Given the description of an element on the screen output the (x, y) to click on. 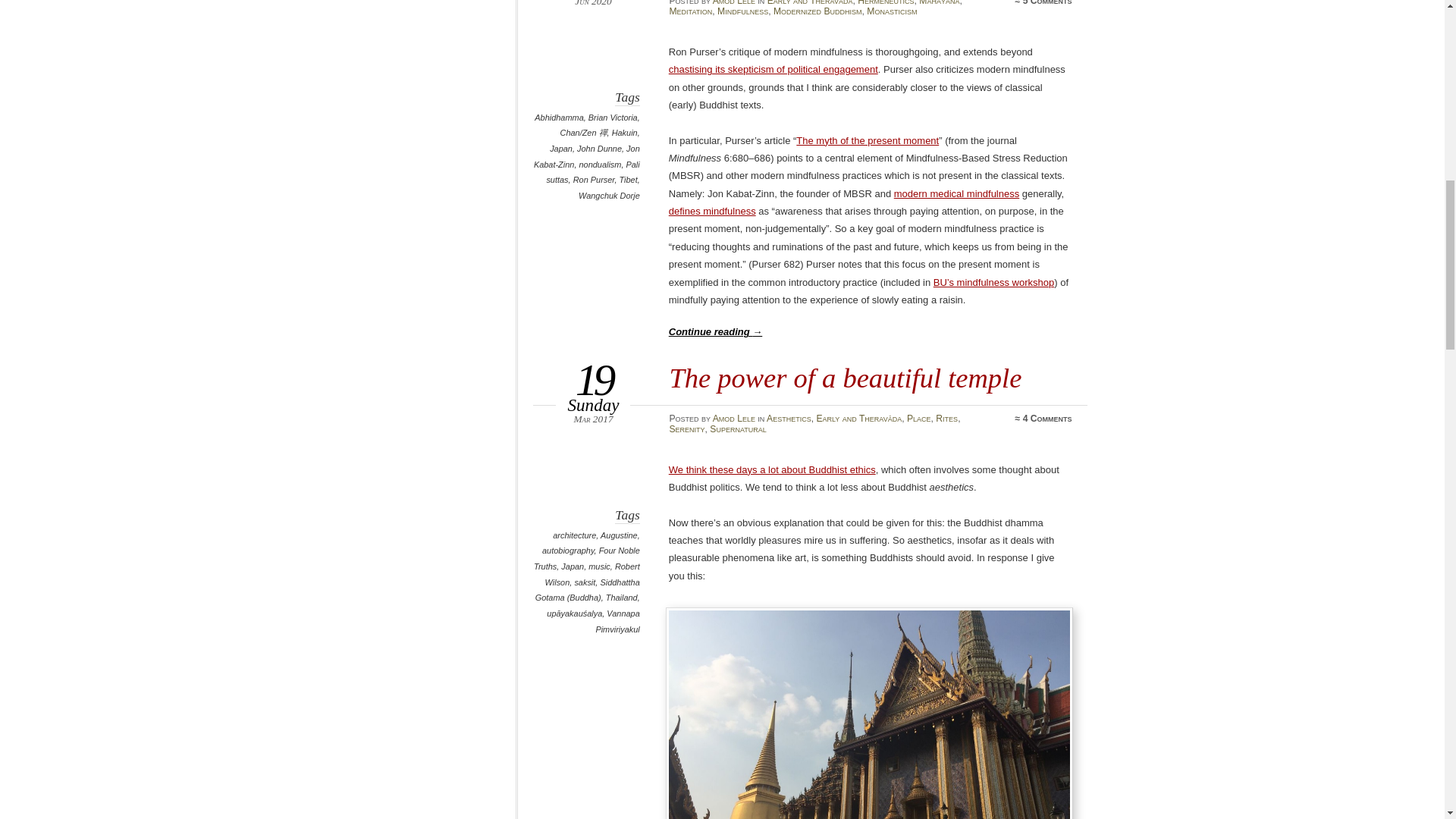
Meditation (689, 10)
View all posts by Amod Lele (734, 418)
Mindfulness (742, 10)
Modernized Buddhism (817, 10)
Monasticism (891, 10)
Hermeneutics (885, 2)
View all posts by Amod Lele (734, 2)
Amod Lele (734, 2)
